Given the description of an element on the screen output the (x, y) to click on. 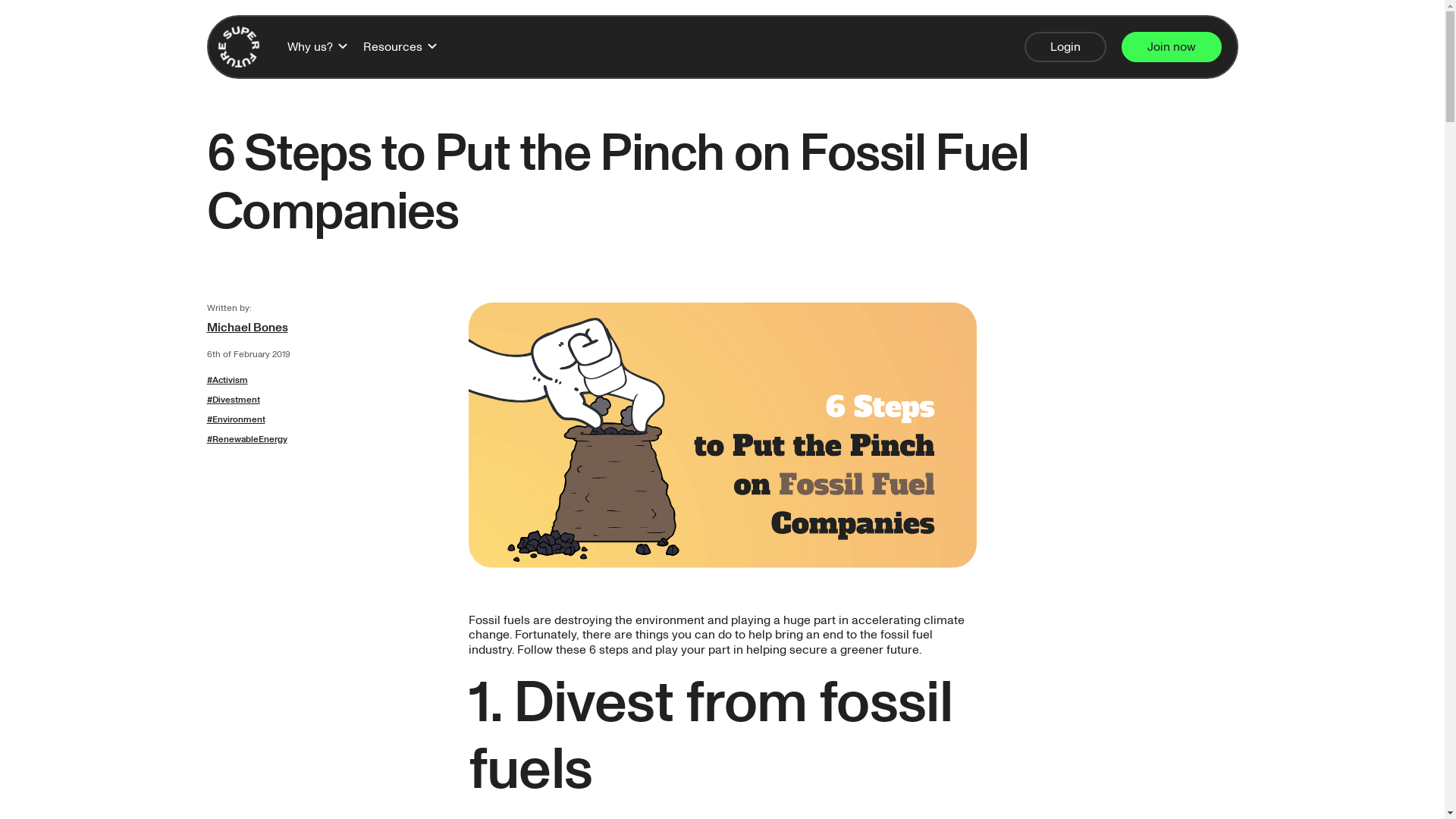
#Environment Element type: text (329, 419)
#Activism Element type: text (329, 380)
Join
 now Element type: text (1170, 46)
#RenewableEnergy Element type: text (329, 439)
Michael Bones Element type: text (329, 327)
Login Element type: text (1064, 46)
#Divestment Element type: text (329, 400)
